Given the description of an element on the screen output the (x, y) to click on. 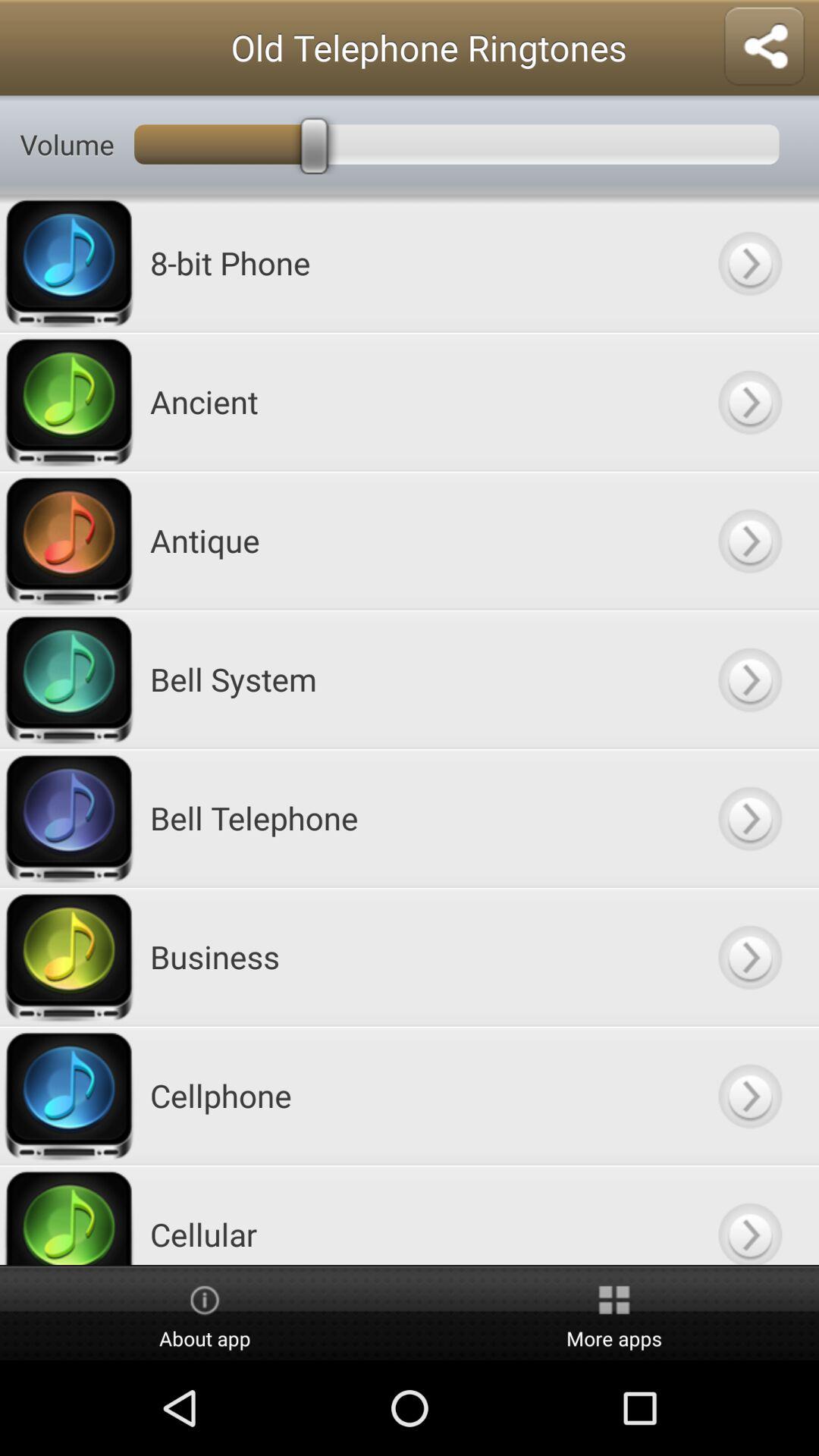
play ringtone (749, 956)
